Given the description of an element on the screen output the (x, y) to click on. 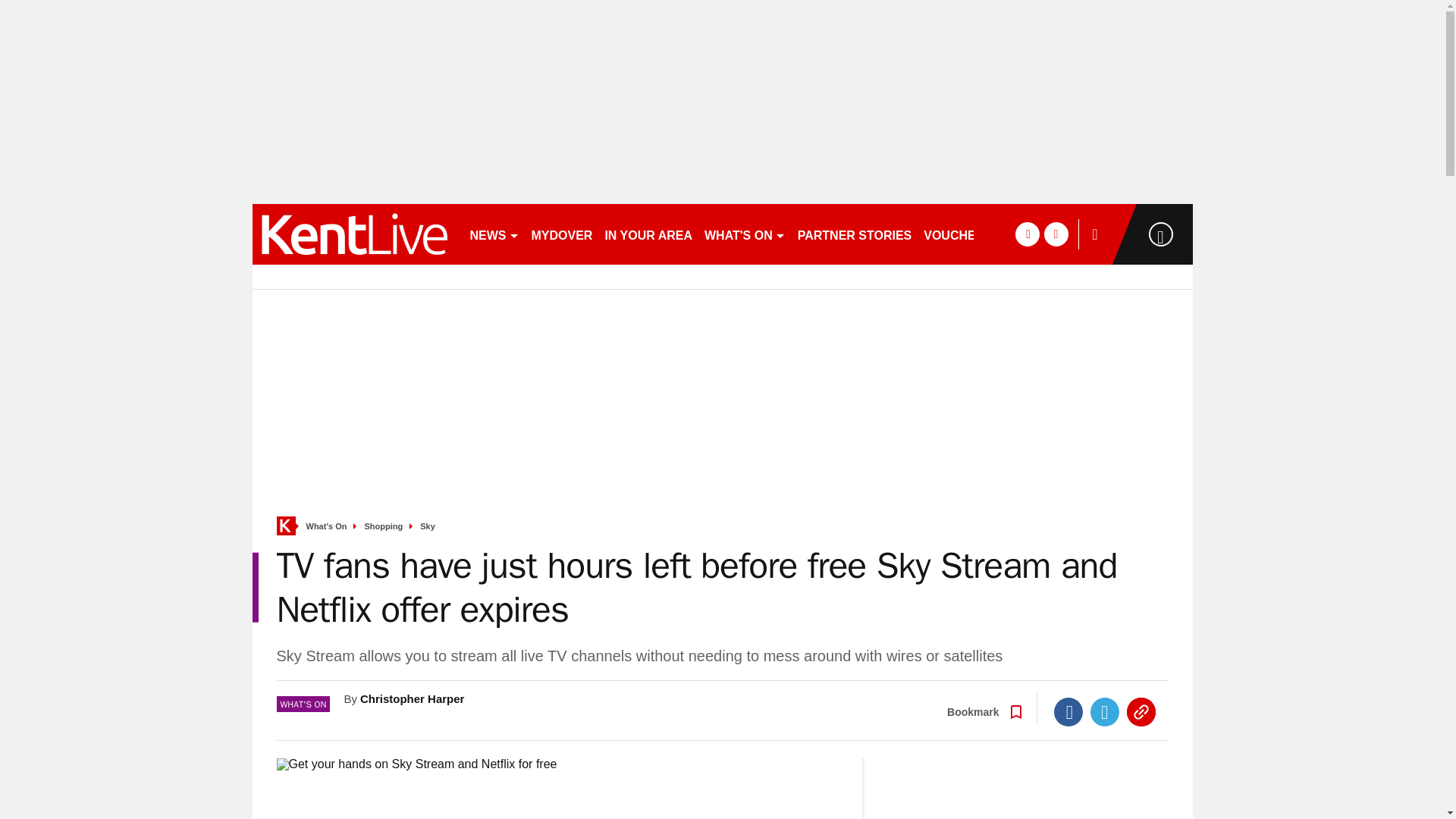
Facebook (1068, 711)
MYDOVER (561, 233)
VOUCHER CODES (983, 233)
Twitter (1104, 711)
kentlive (353, 233)
PARTNER STORIES (855, 233)
WHAT'S ON (745, 233)
IN YOUR AREA (648, 233)
facebook (1026, 233)
twitter (1055, 233)
